Given the description of an element on the screen output the (x, y) to click on. 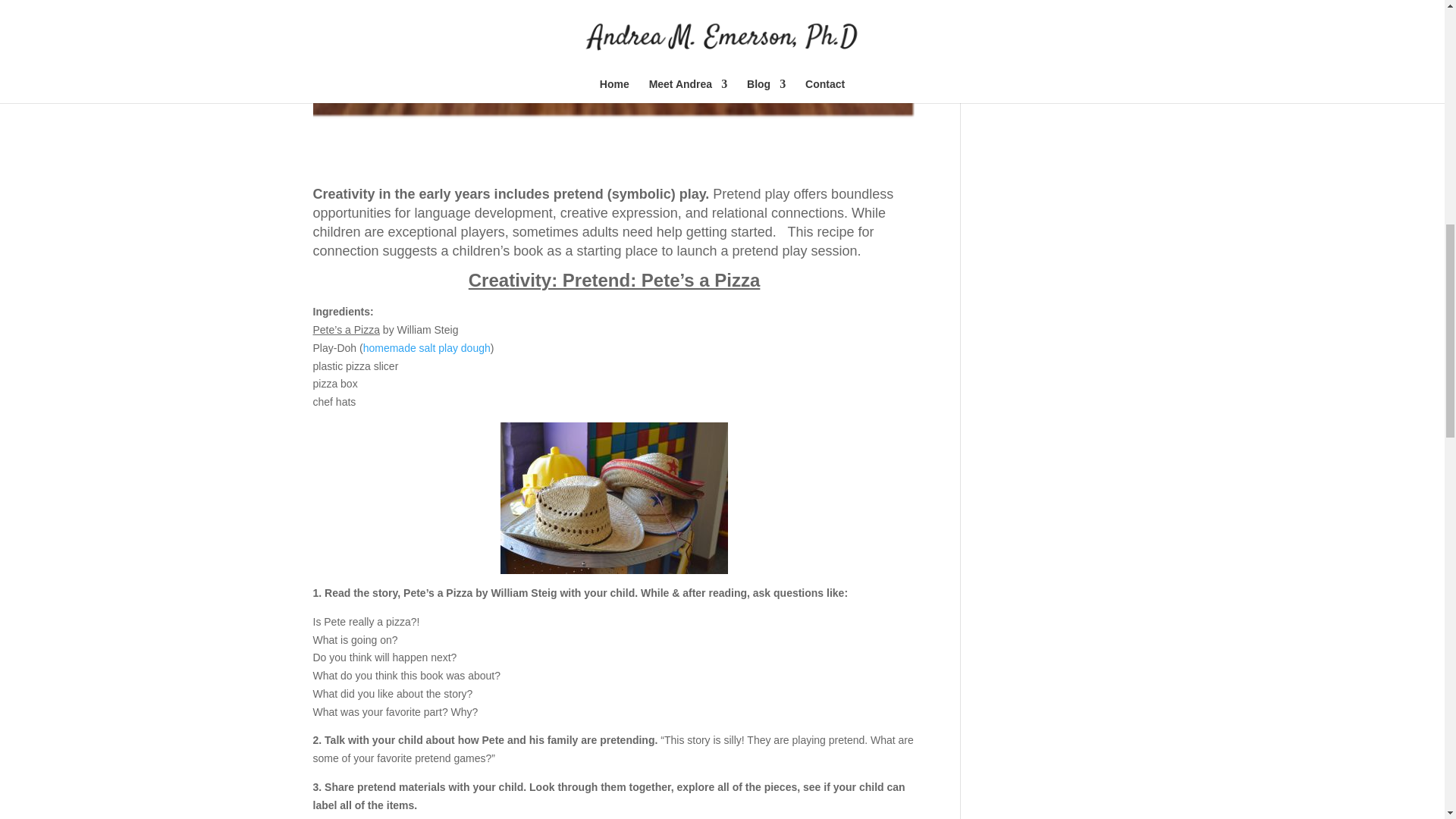
homemade salt play dough (426, 347)
